Given the description of an element on the screen output the (x, y) to click on. 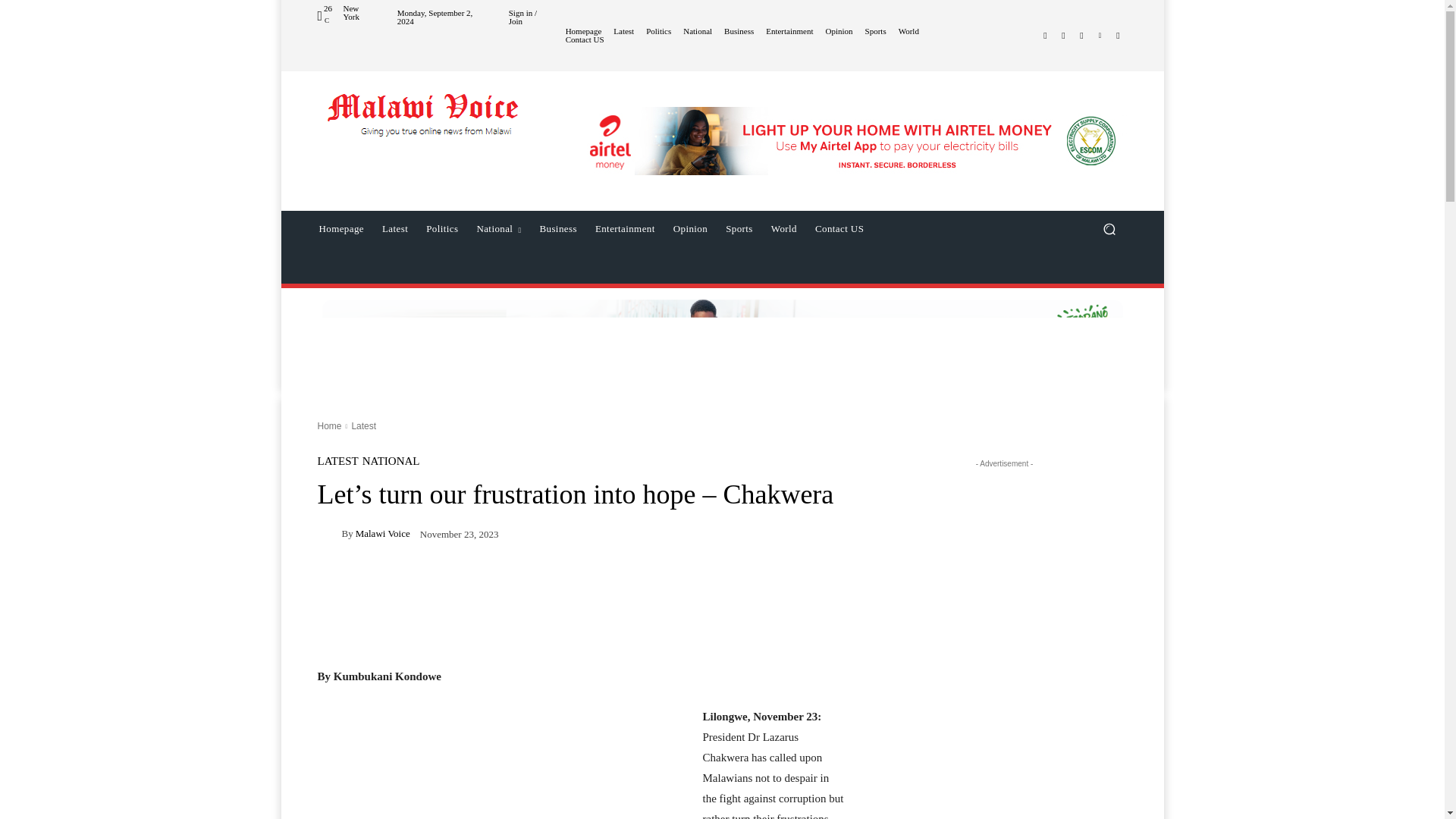
Instagram (1062, 35)
Contact US (585, 40)
Entertainment (788, 31)
Latest (622, 31)
National (696, 31)
World (908, 31)
Homepage (584, 31)
Youtube (1117, 35)
Malawi Voice (425, 122)
Opinion (839, 31)
